Given the description of an element on the screen output the (x, y) to click on. 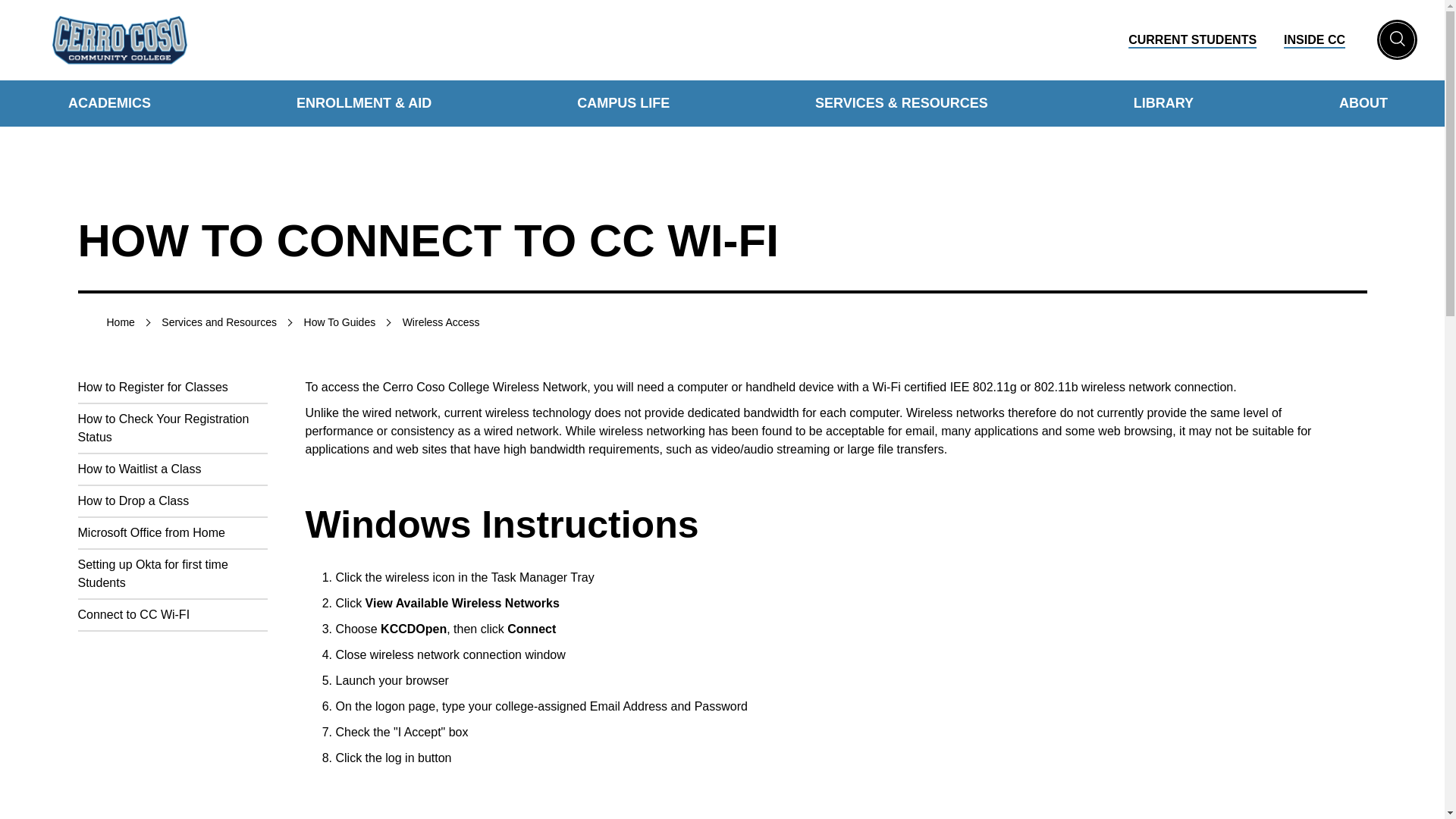
CURRENT STUDENTS (1192, 39)
toggle search (1396, 39)
ABOUT (1363, 103)
How to Register for Classes (152, 386)
CAMPUS LIFE (623, 103)
How to Waitlist a Class (138, 468)
Microsoft Office from Home (150, 532)
Services and Resources (218, 322)
How to Check Your Registration Status (162, 427)
Connect to CC Wi-FI (133, 614)
Home (119, 322)
Setting up Okta for first time Students (152, 572)
How To Guides (339, 322)
How to Drop a Class (133, 500)
